Given the description of an element on the screen output the (x, y) to click on. 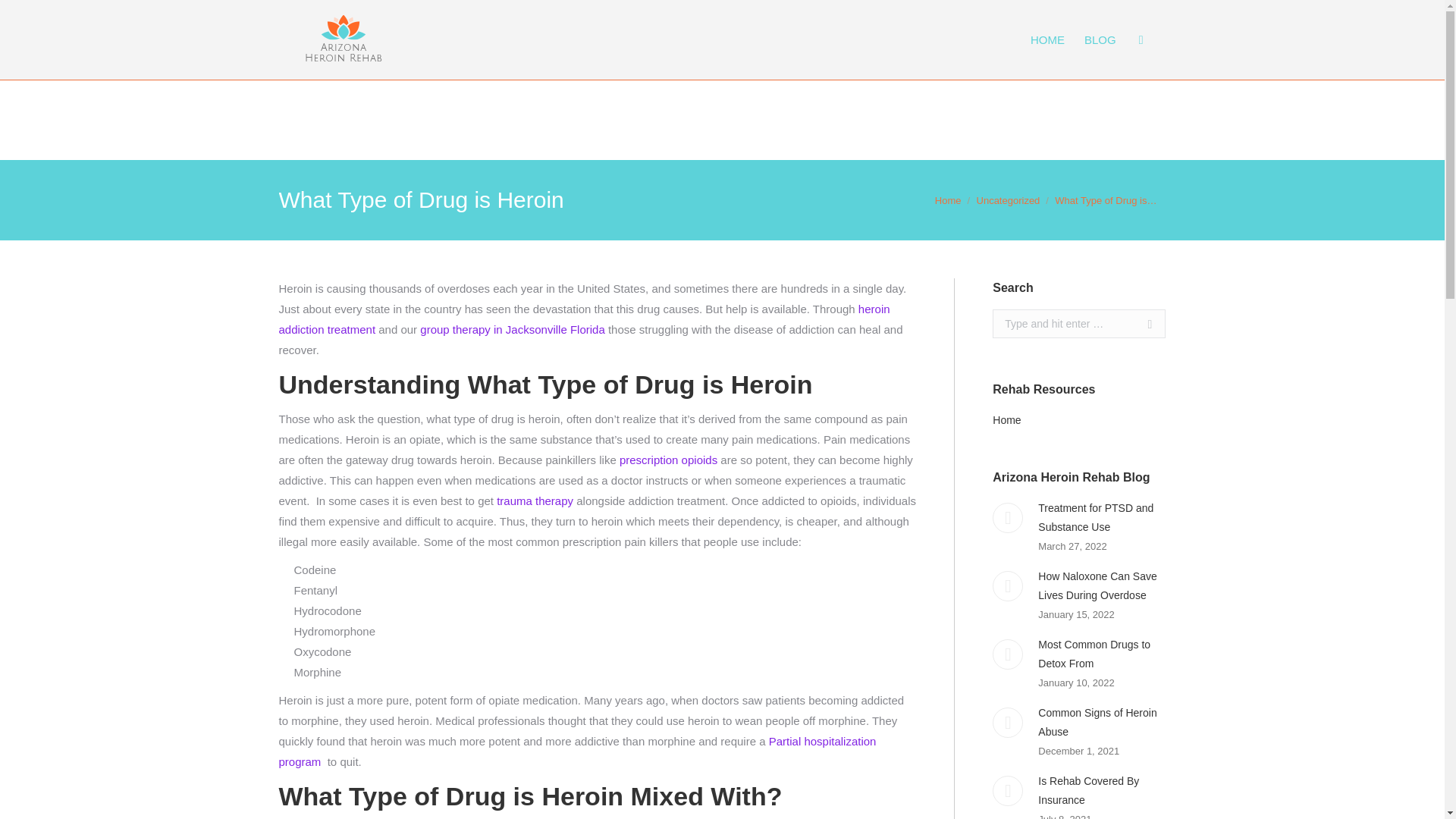
HOME (1047, 39)
Go! (24, 15)
heroin addiction treatment (584, 318)
Uncategorized (1008, 200)
trauma therapy (534, 500)
Go! (1141, 323)
Home (947, 200)
Go! (1141, 323)
Partial hospitalization program (577, 751)
prescription opioids (668, 459)
BLOG (1100, 39)
group therapy in Jacksonville Florida (512, 328)
